Given the description of an element on the screen output the (x, y) to click on. 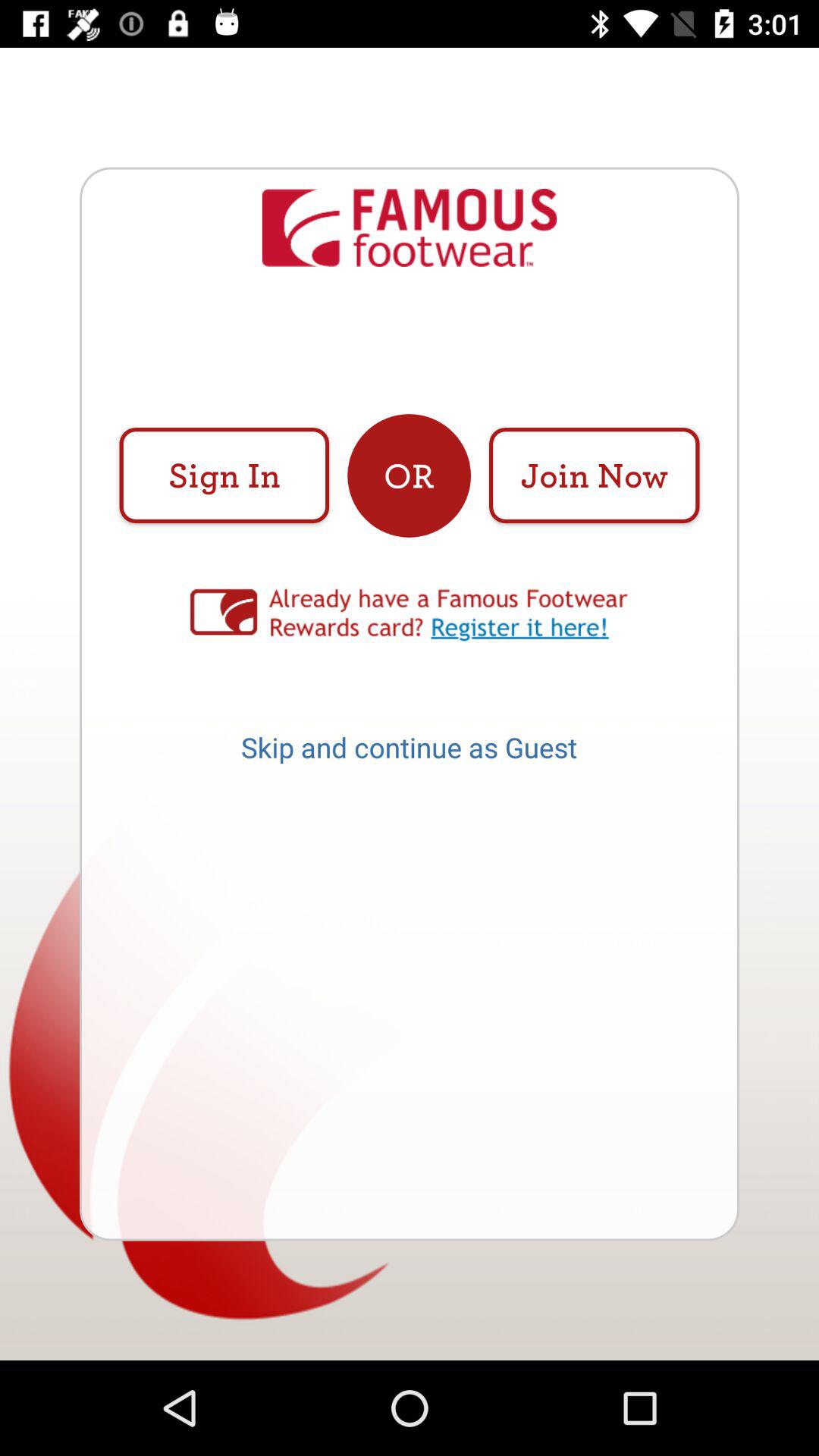
select the join now icon (594, 475)
